Given the description of an element on the screen output the (x, y) to click on. 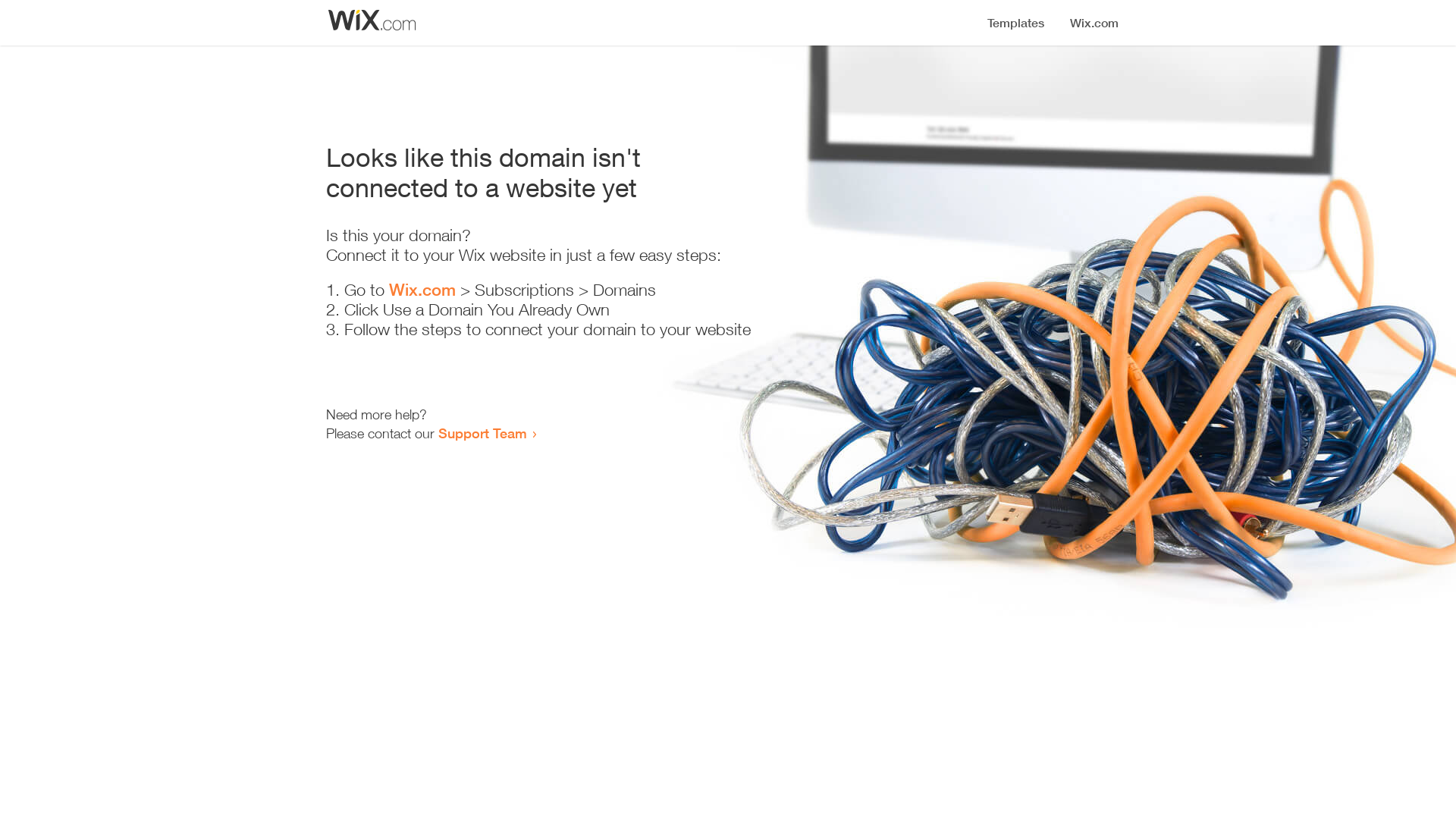
Wix.com Element type: text (422, 289)
Support Team Element type: text (482, 432)
